Given the description of an element on the screen output the (x, y) to click on. 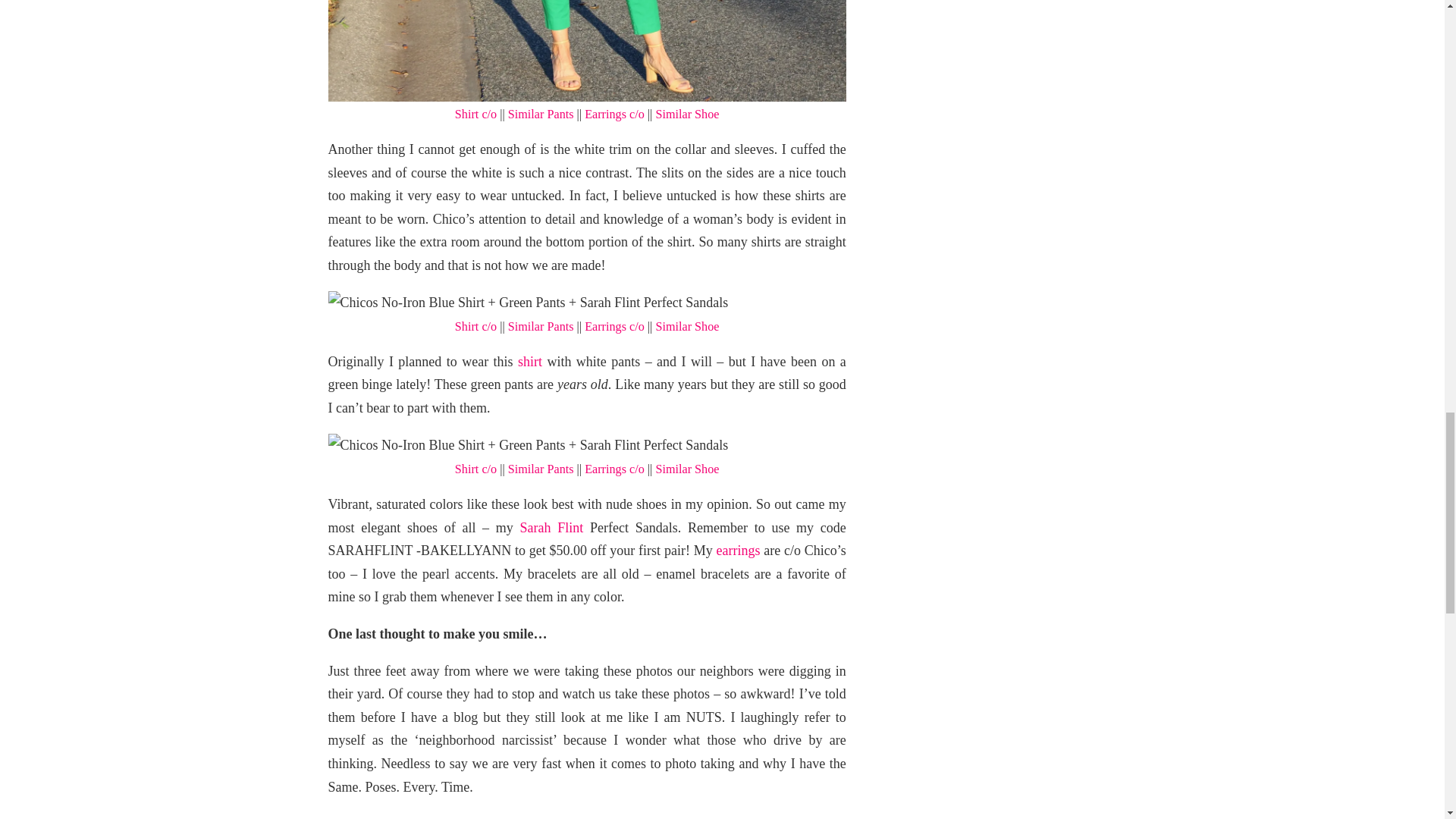
earrings (739, 549)
Similar Pants (540, 468)
shirt (529, 361)
Similar Shoe (687, 468)
Similar Pants (540, 114)
Similar Shoe (687, 326)
Similar Pants (540, 326)
Similar Shoe (687, 114)
Sarah Flint (551, 527)
